Given the description of an element on the screen output the (x, y) to click on. 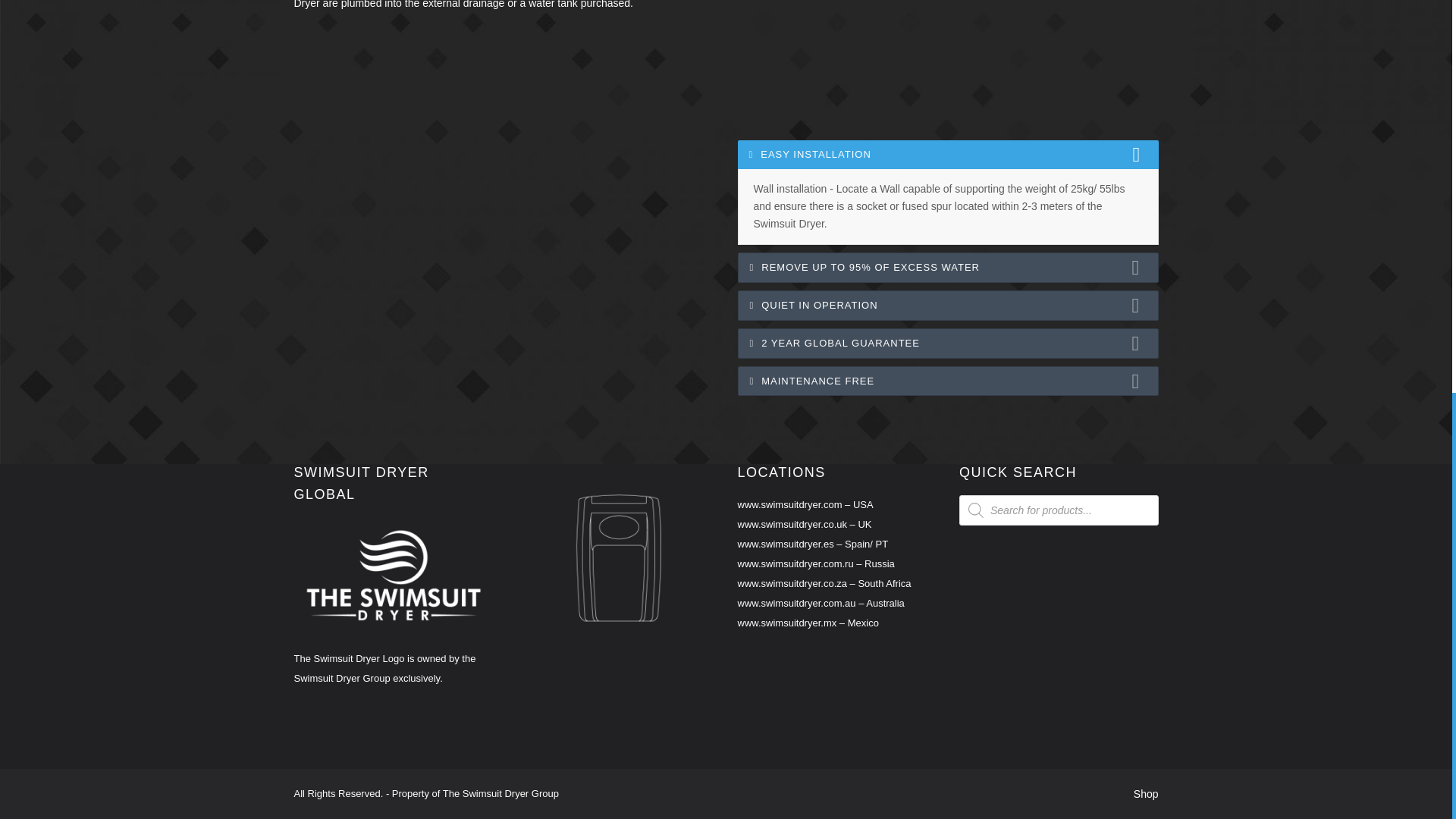
Shop (1146, 793)
